Given the description of an element on the screen output the (x, y) to click on. 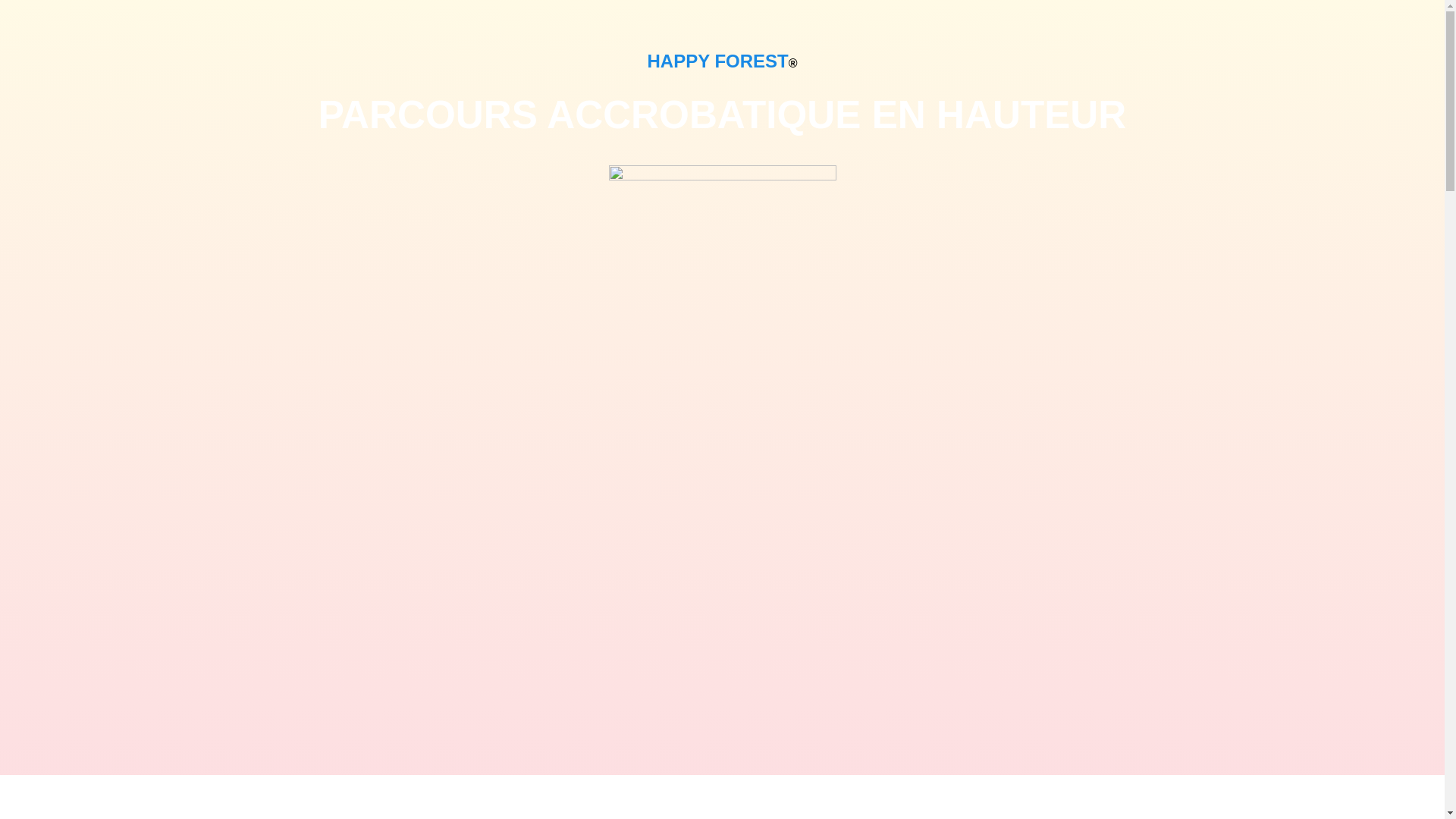
Restaurant and shop (377, 443)
Tree climbing course (377, 505)
Welcome (327, 92)
One day healer (362, 649)
Presentation (336, 113)
Zoo (331, 526)
Laser game (353, 567)
Practical information (357, 278)
Pony ride (346, 629)
Animations (351, 257)
